Given the description of an element on the screen output the (x, y) to click on. 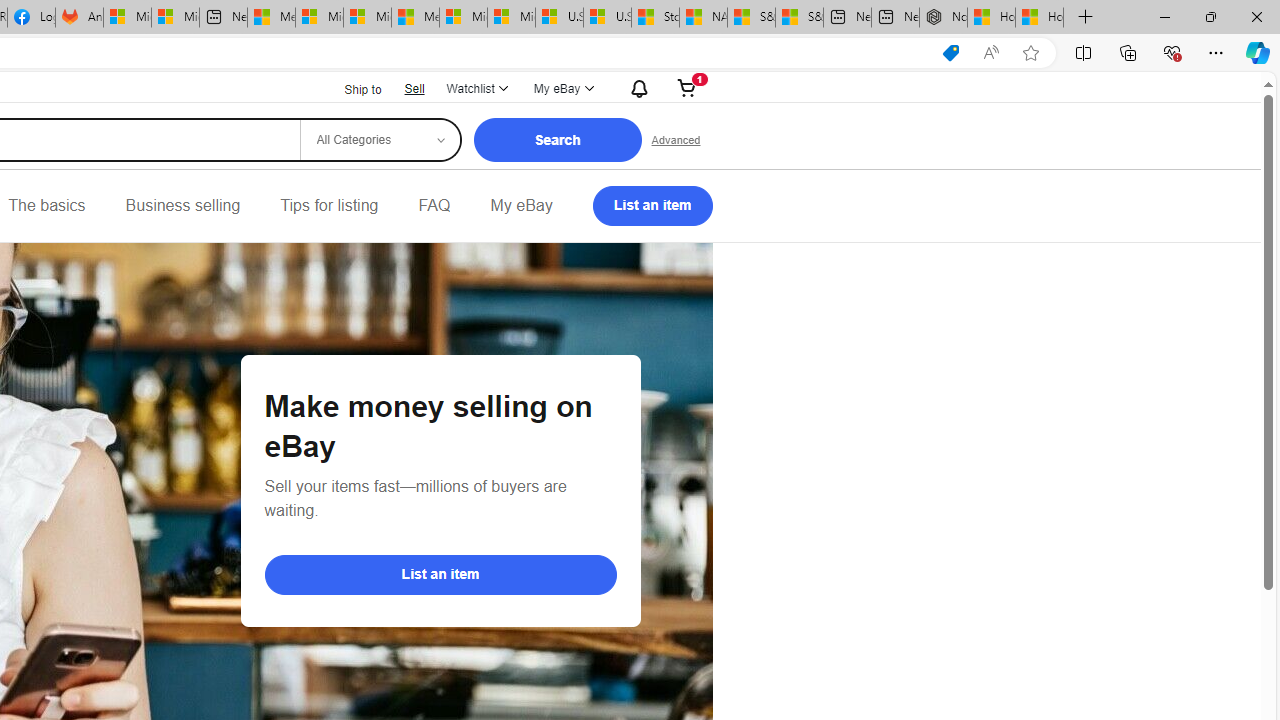
Sell (414, 87)
Select a category for search (379, 139)
List an item (439, 574)
My eBay (521, 205)
Tips for listing (329, 205)
Your shopping cart contains 1 item (687, 88)
AutomationID: gh-eb-Alerts (636, 88)
